Given the description of an element on the screen output the (x, y) to click on. 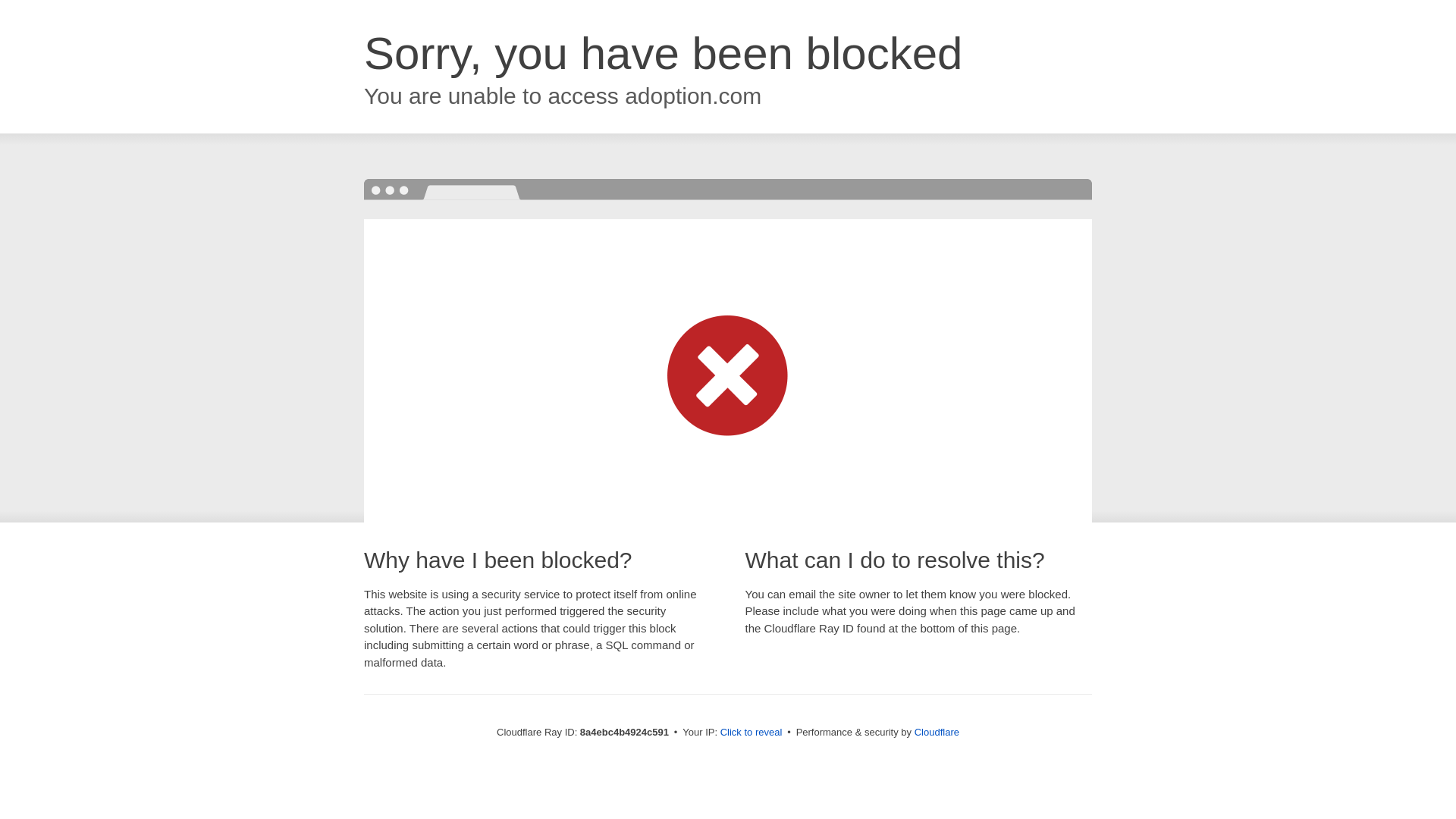
Cloudflare (936, 731)
Click to reveal (751, 732)
